Given the description of an element on the screen output the (x, y) to click on. 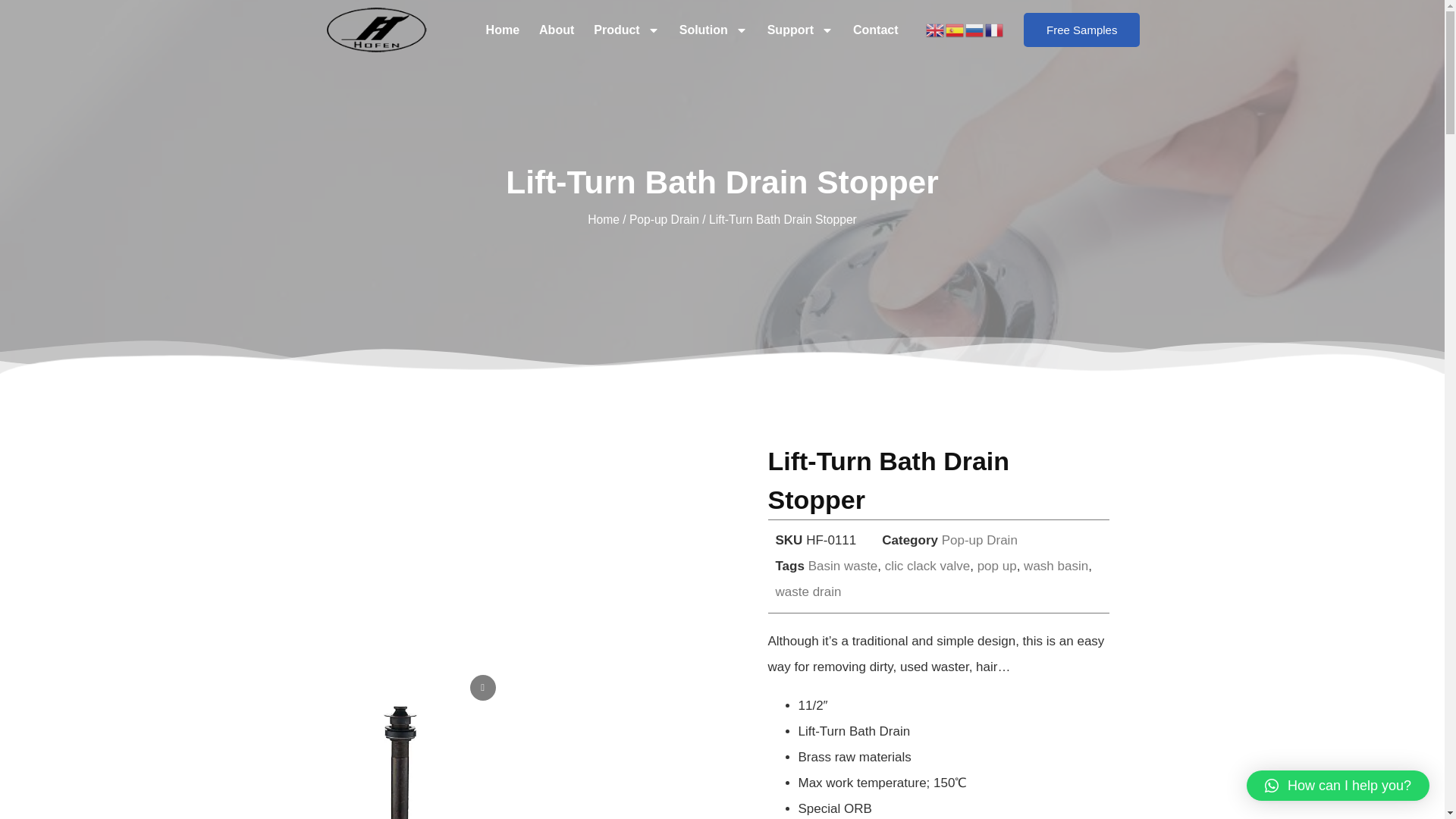
Support (800, 29)
Russian (975, 29)
Product (626, 29)
About (555, 29)
Spanish (954, 29)
Contact (875, 29)
Home (502, 29)
English (935, 29)
Solution (713, 29)
French (994, 29)
